Given the description of an element on the screen output the (x, y) to click on. 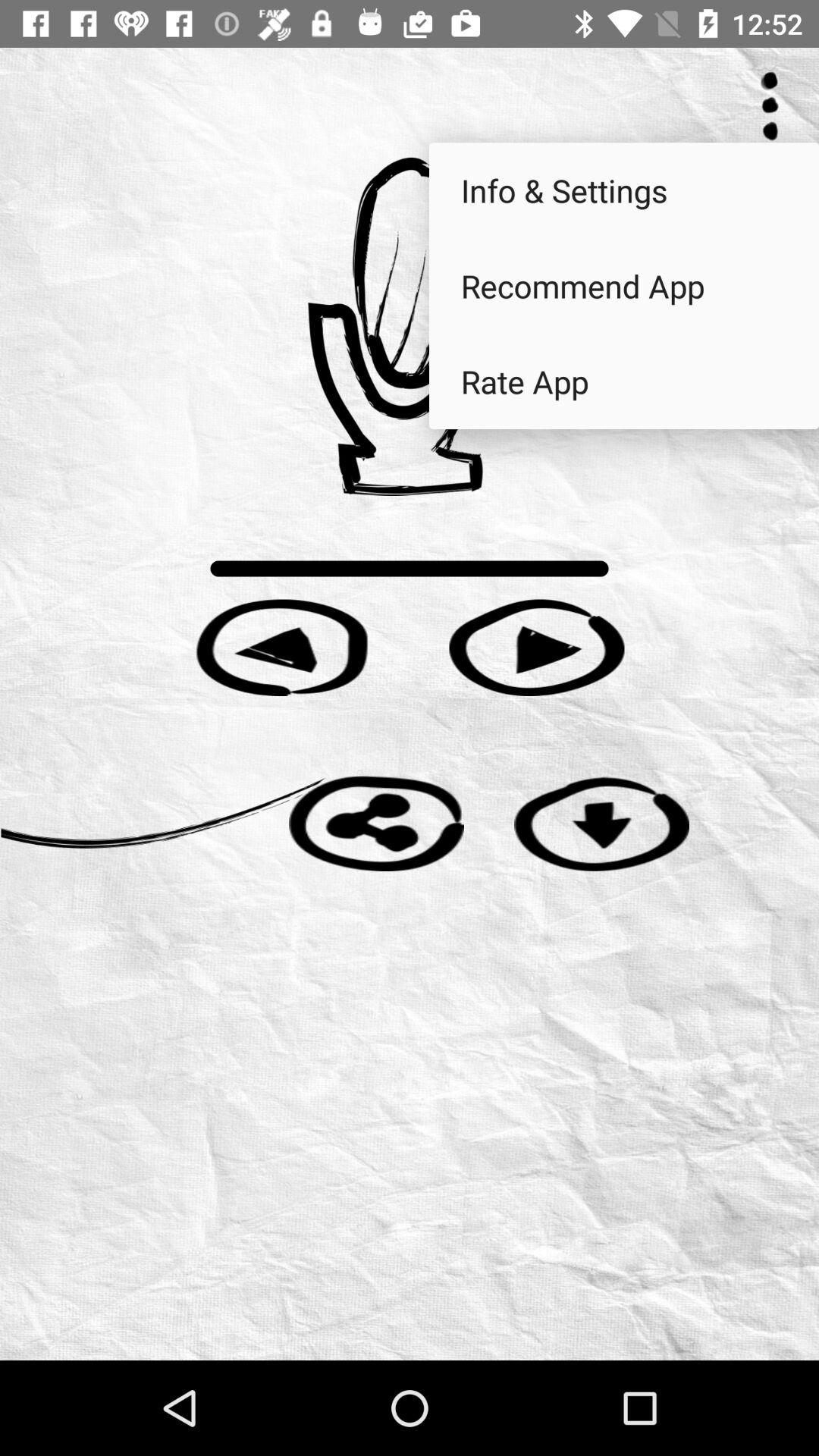
share recording (376, 823)
